Given the description of an element on the screen output the (x, y) to click on. 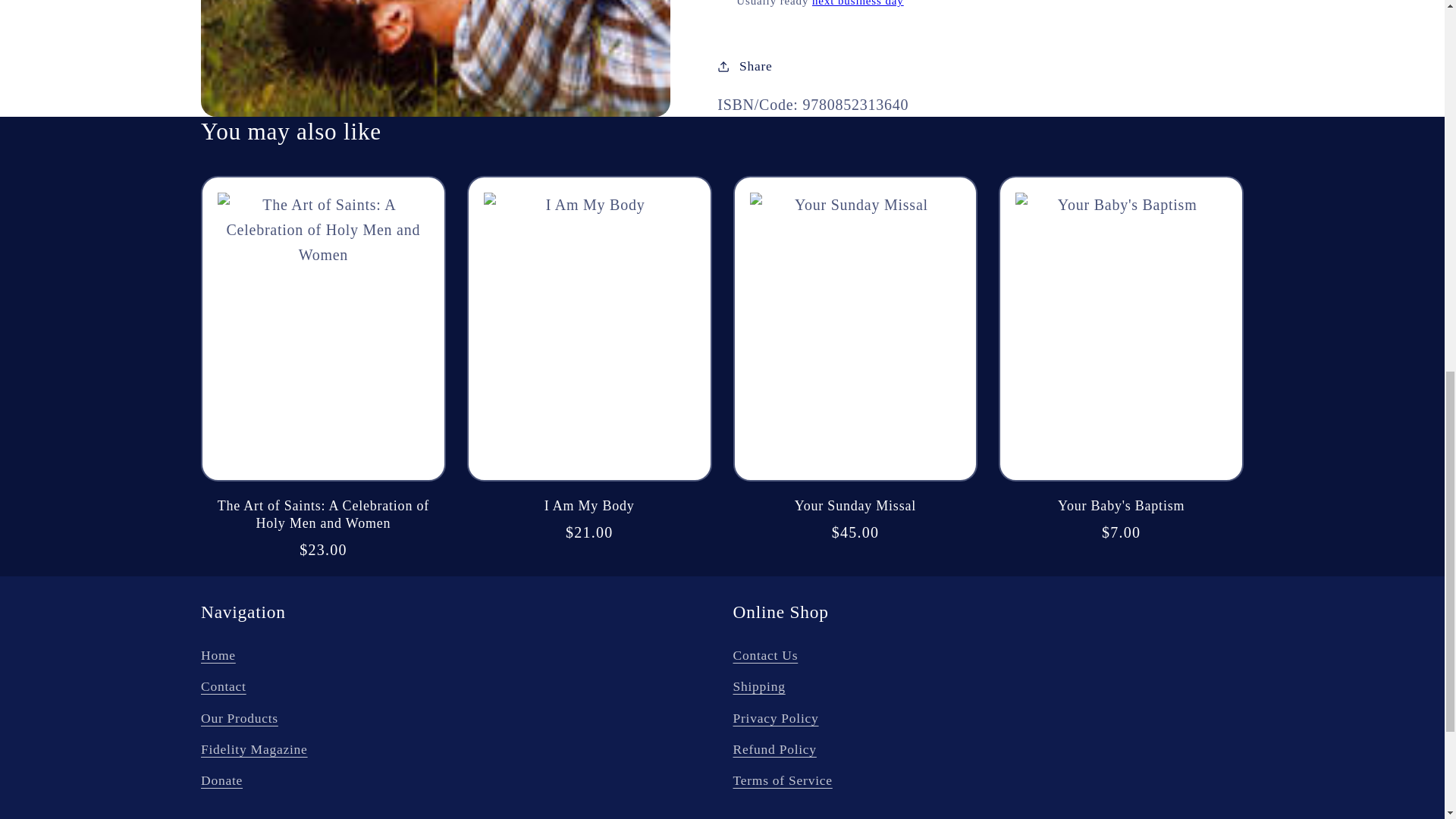
next business day (858, 3)
